Given the description of an element on the screen output the (x, y) to click on. 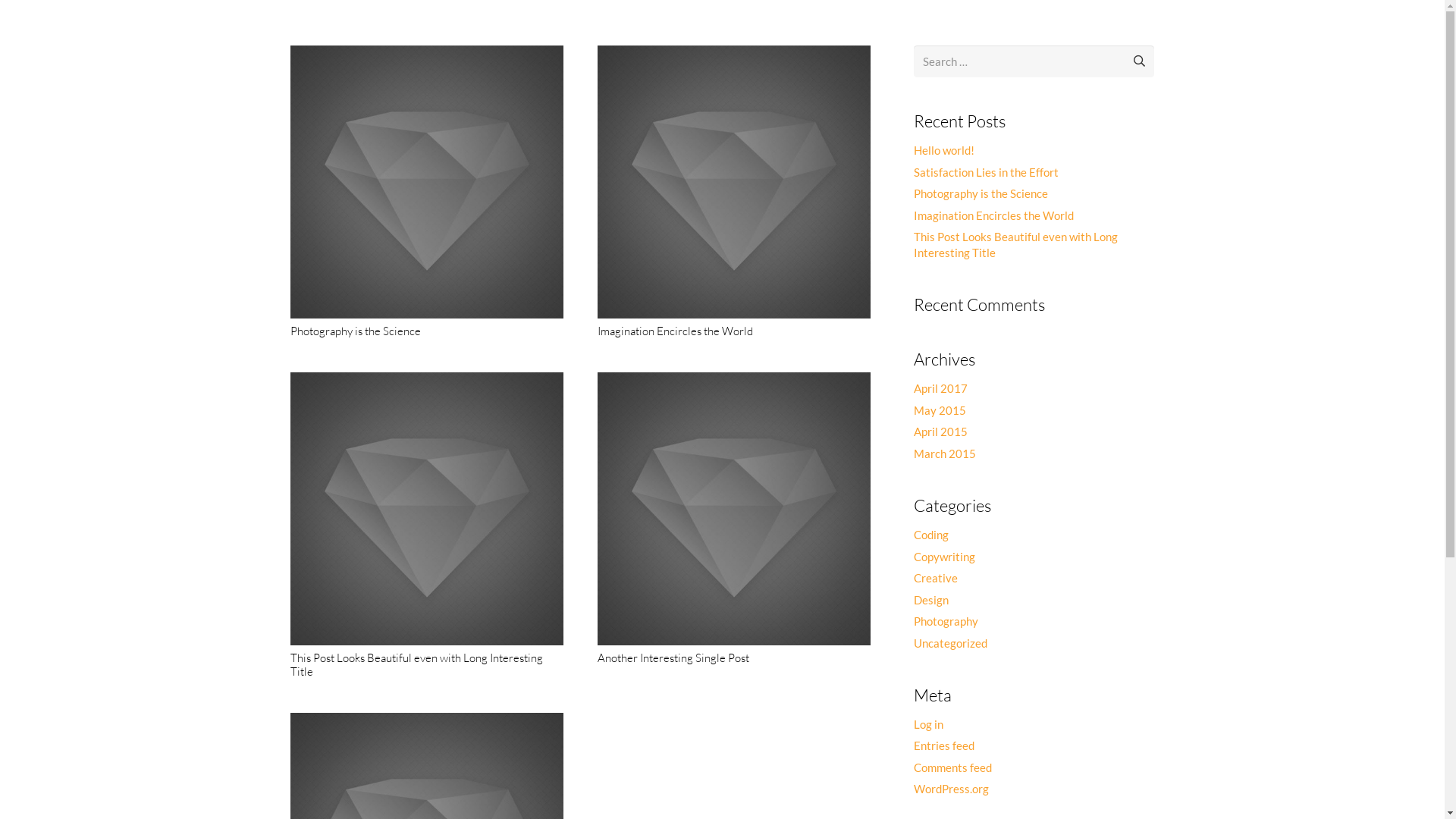
Another Interesting Single Post Element type: text (673, 657)
Comments feed Element type: text (952, 767)
Imagination Encircles the World Element type: text (993, 215)
April 2015 Element type: text (940, 431)
April 2017 Element type: text (940, 388)
Uncategorized Element type: text (950, 642)
This Post Looks Beautiful even with Long Interesting Title Element type: text (1015, 244)
Design Element type: text (930, 599)
This Post Looks Beautiful even with Long Interesting Title Element type: text (415, 664)
Hello world! Element type: text (943, 149)
March 2015 Element type: text (944, 453)
Imagination Encircles the World Element type: text (675, 330)
Copywriting Element type: text (944, 556)
May 2015 Element type: text (939, 410)
WordPress.org Element type: text (950, 788)
Photography is the Science Element type: text (980, 193)
Photography Element type: text (945, 620)
Coding Element type: text (930, 534)
Log in Element type: text (928, 724)
Photography is the Science Element type: text (354, 330)
Satisfaction Lies in the Effort Element type: text (985, 171)
Creative Element type: text (935, 577)
Search Element type: text (1132, 61)
Entries feed Element type: text (943, 745)
